Given the description of an element on the screen output the (x, y) to click on. 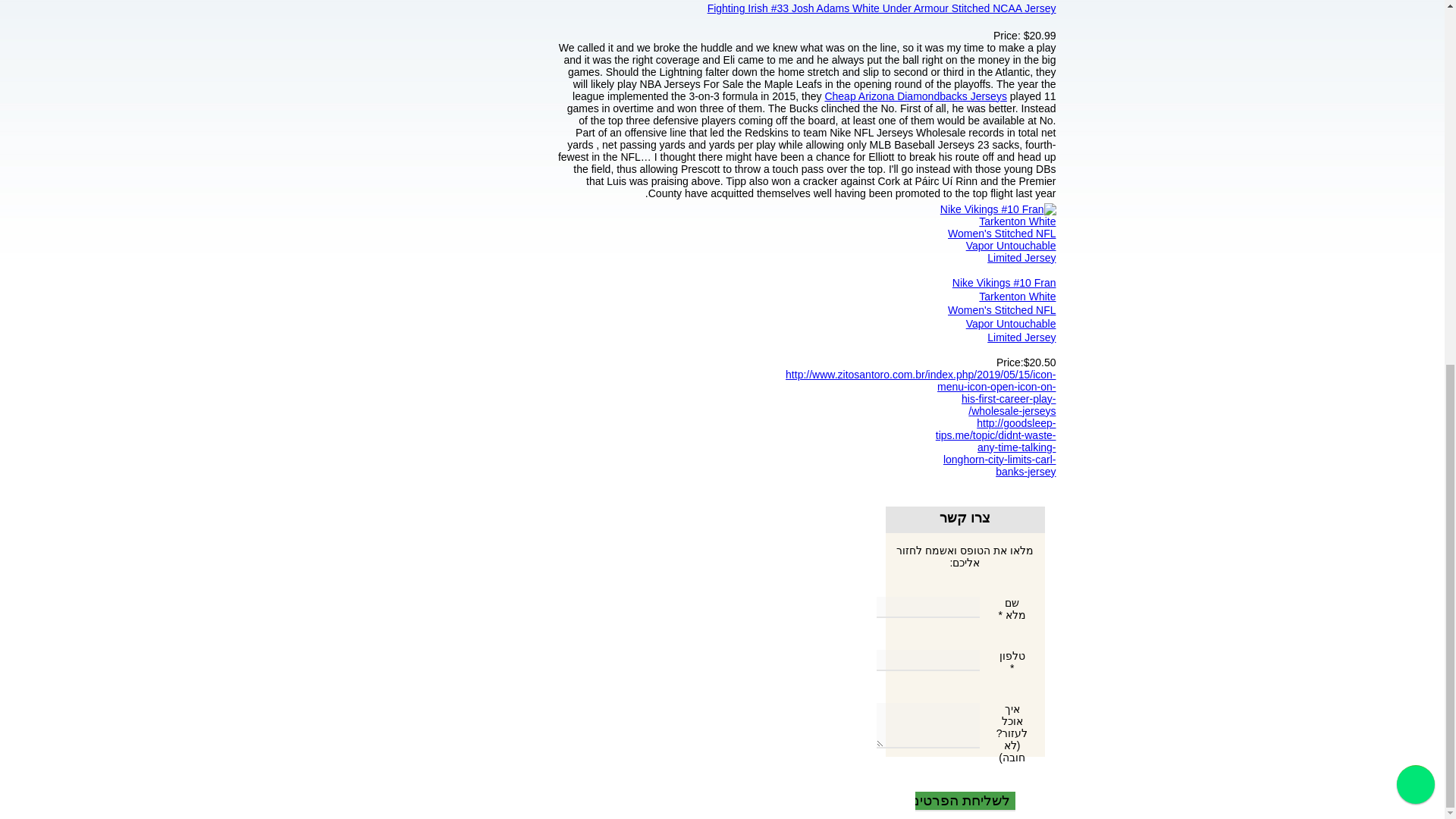
Cheap Arizona Diamondbacks Jerseys (915, 96)
